Given the description of an element on the screen output the (x, y) to click on. 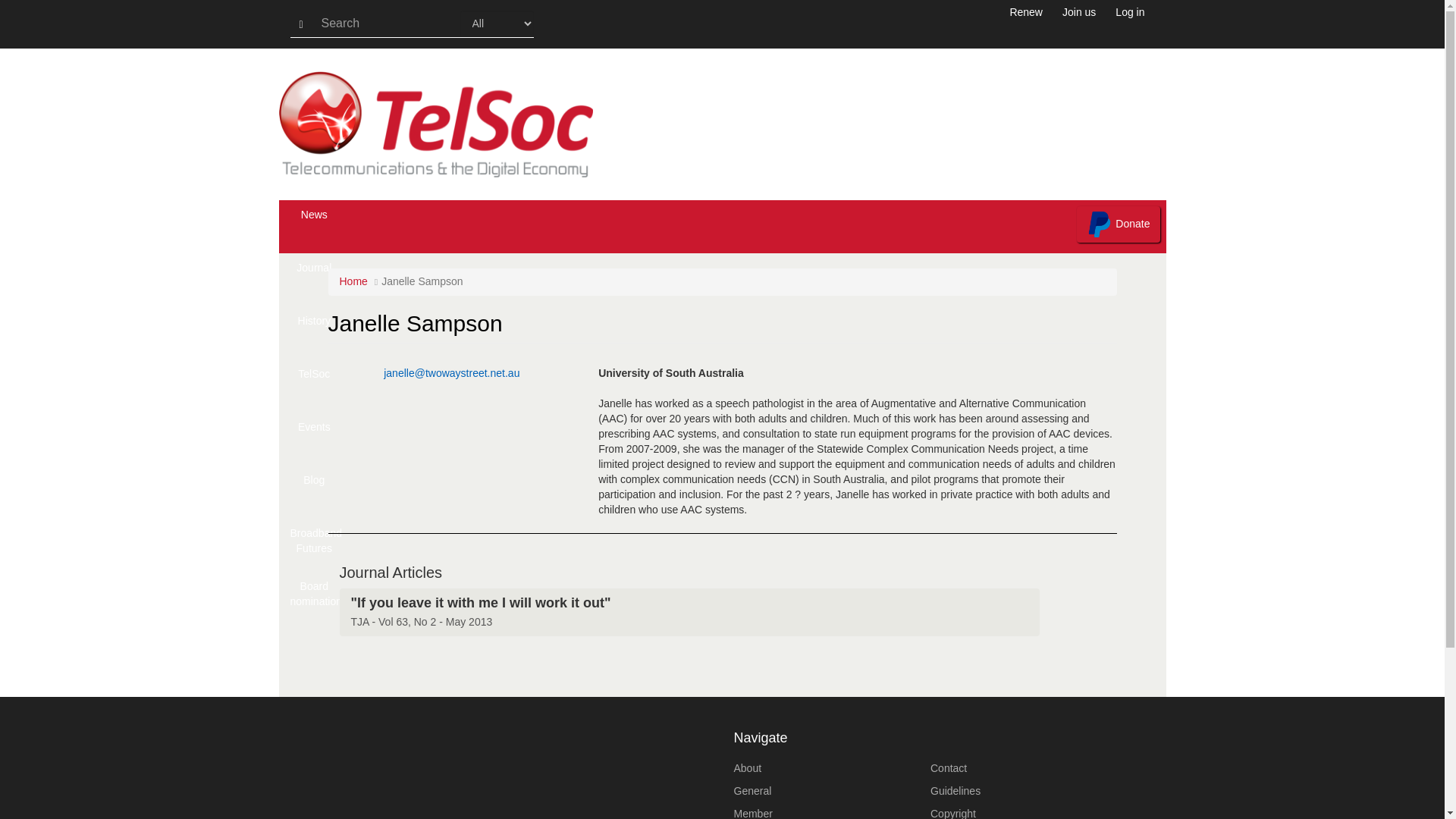
Log in (1129, 24)
Home (456, 124)
Board nomination (314, 597)
Donate (1117, 224)
Renew (1025, 24)
Events (314, 439)
News (314, 226)
TelSoc (314, 385)
History (314, 332)
Join us (1078, 24)
Journal (314, 279)
Broadband Futures (314, 544)
Blog (314, 492)
